Given the description of an element on the screen output the (x, y) to click on. 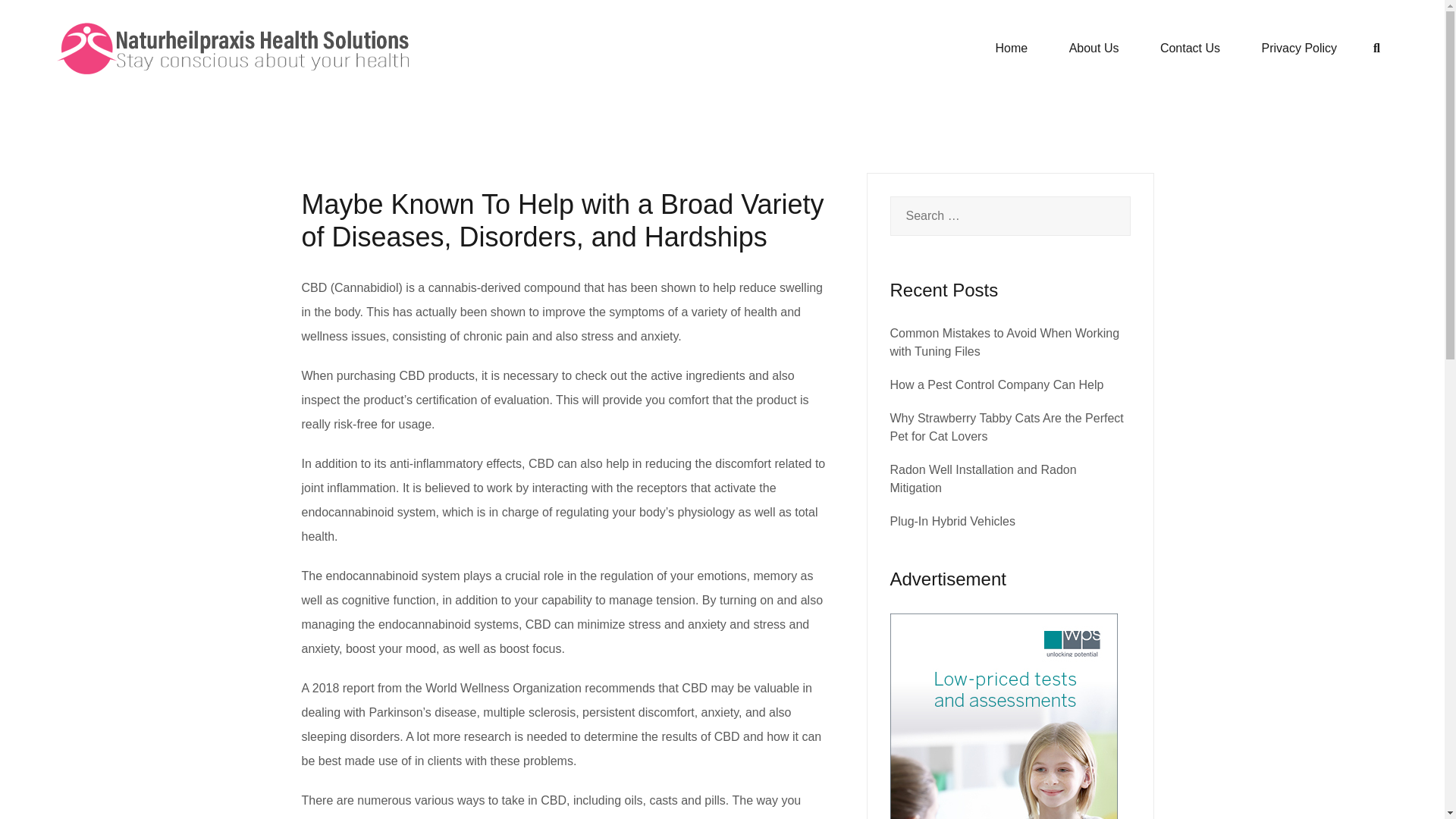
How a Pest Control Company Can Help (996, 384)
Plug-In Hybrid Vehicles (951, 521)
Contact Us (1190, 48)
Privacy Policy (1300, 48)
About Us (1093, 48)
Radon Well Installation and Radon Mitigation (983, 478)
Search (47, 19)
Why Strawberry Tabby Cats Are the Perfect Pet for Cat Lovers (1006, 427)
Home (1010, 48)
Common Mistakes to Avoid When Working with Tuning Files (1004, 341)
